Given the description of an element on the screen output the (x, y) to click on. 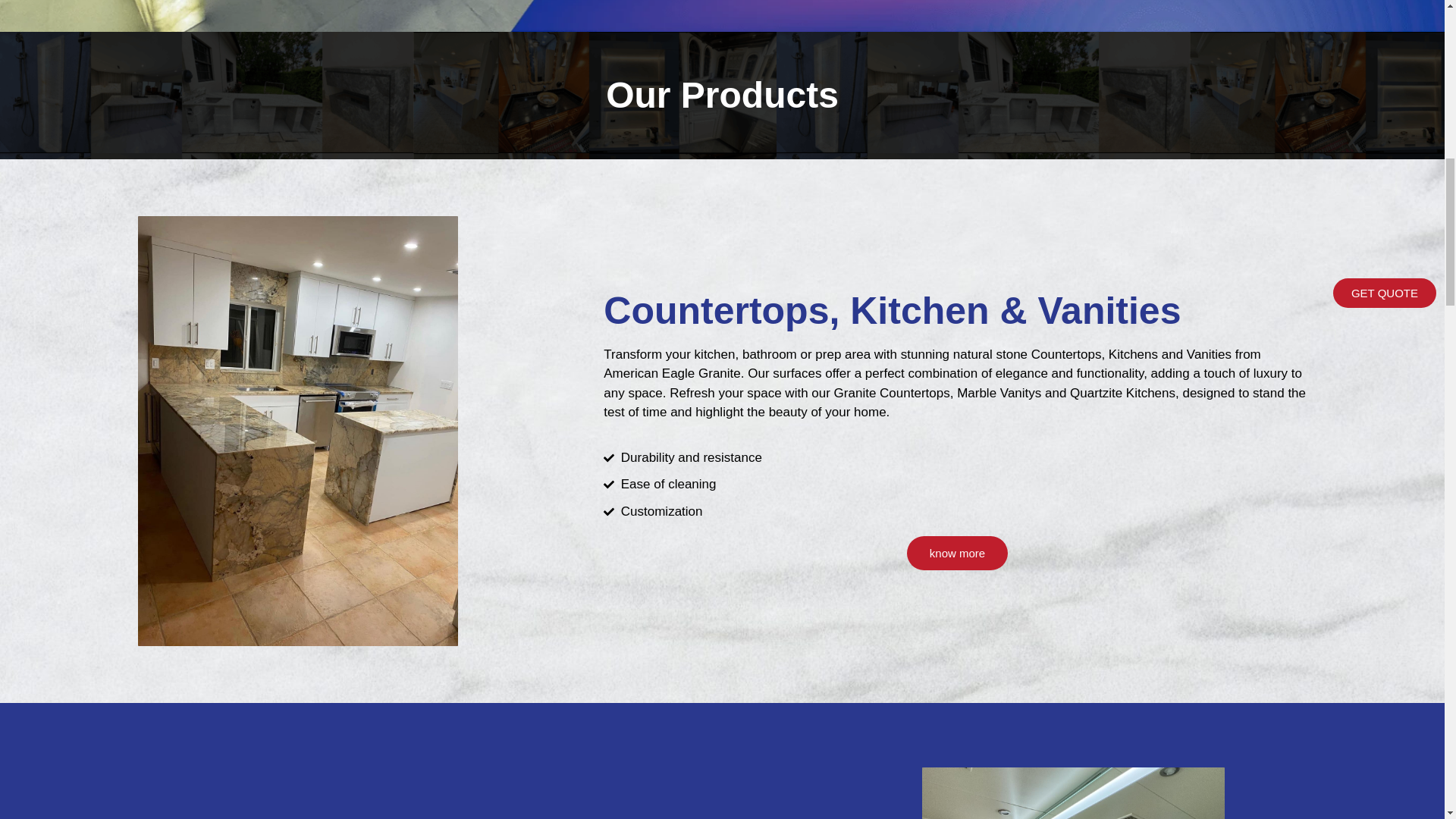
know more (957, 553)
